Given the description of an element on the screen output the (x, y) to click on. 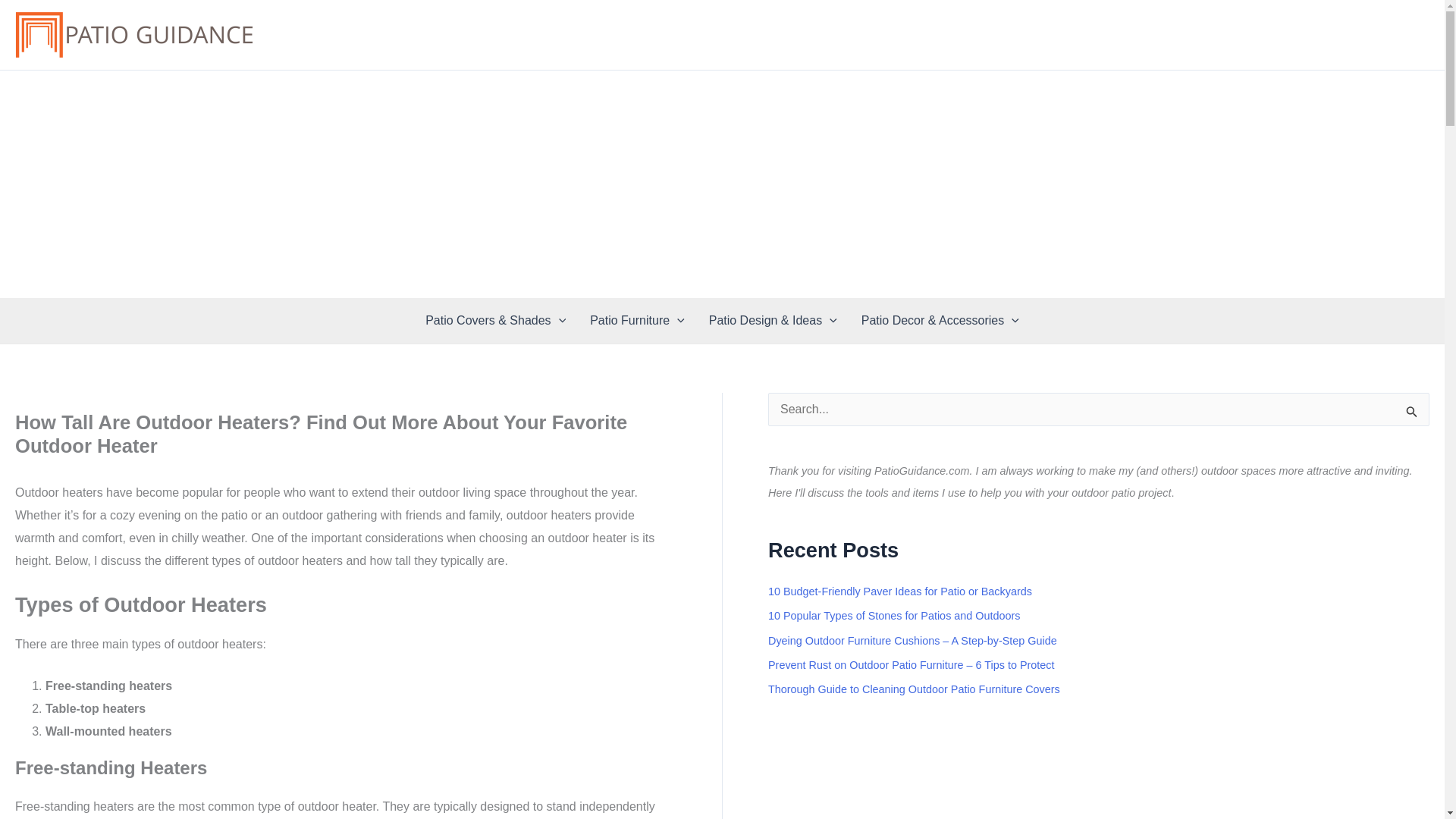
10 Budget-Friendly Paver Ideas for Patio or Backyards (900, 591)
Patio Furniture (637, 320)
